Given the description of an element on the screen output the (x, y) to click on. 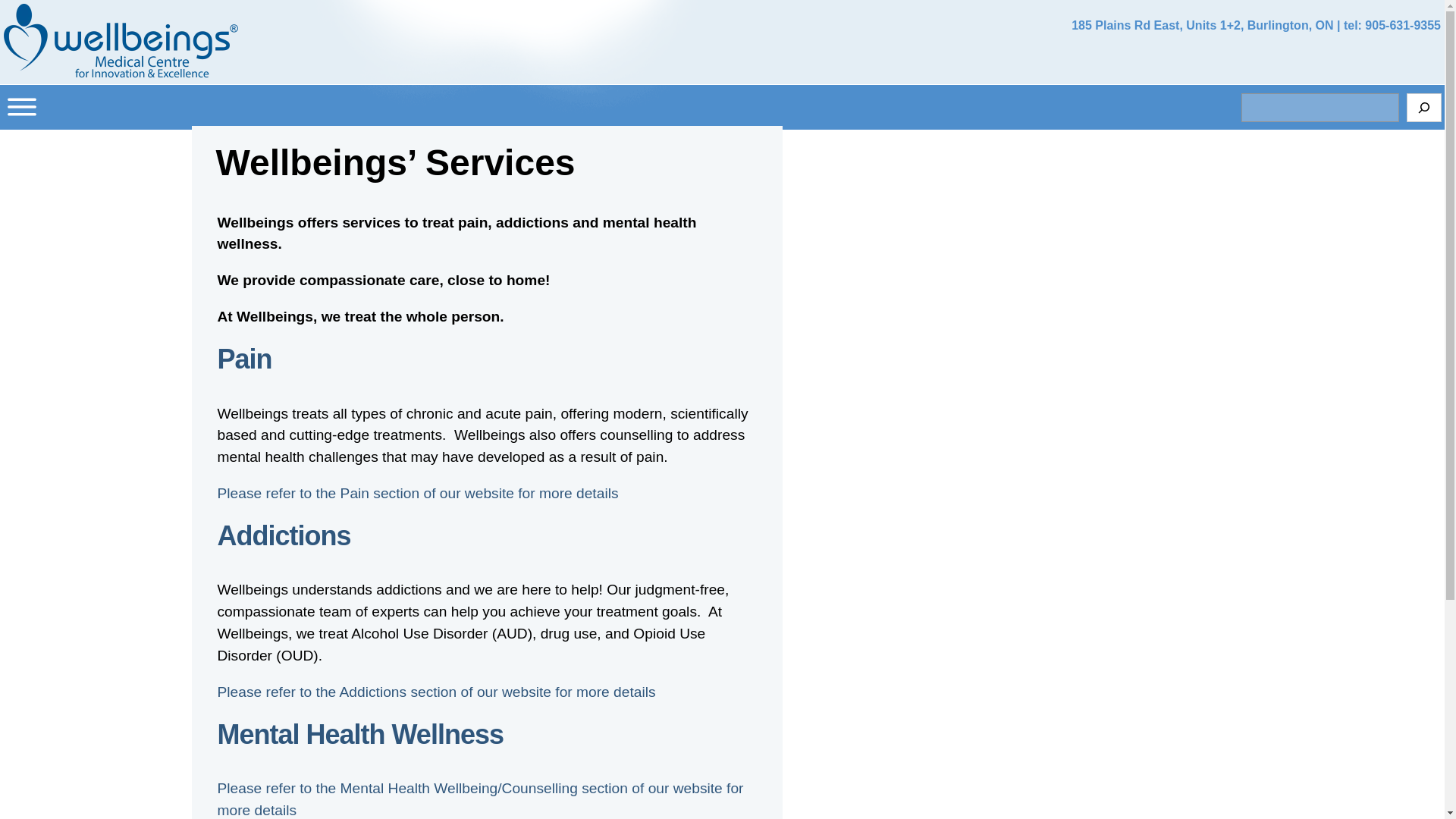
Addictions (283, 535)
Mental Health Wellness (359, 734)
Pain (243, 358)
